Given the description of an element on the screen output the (x, y) to click on. 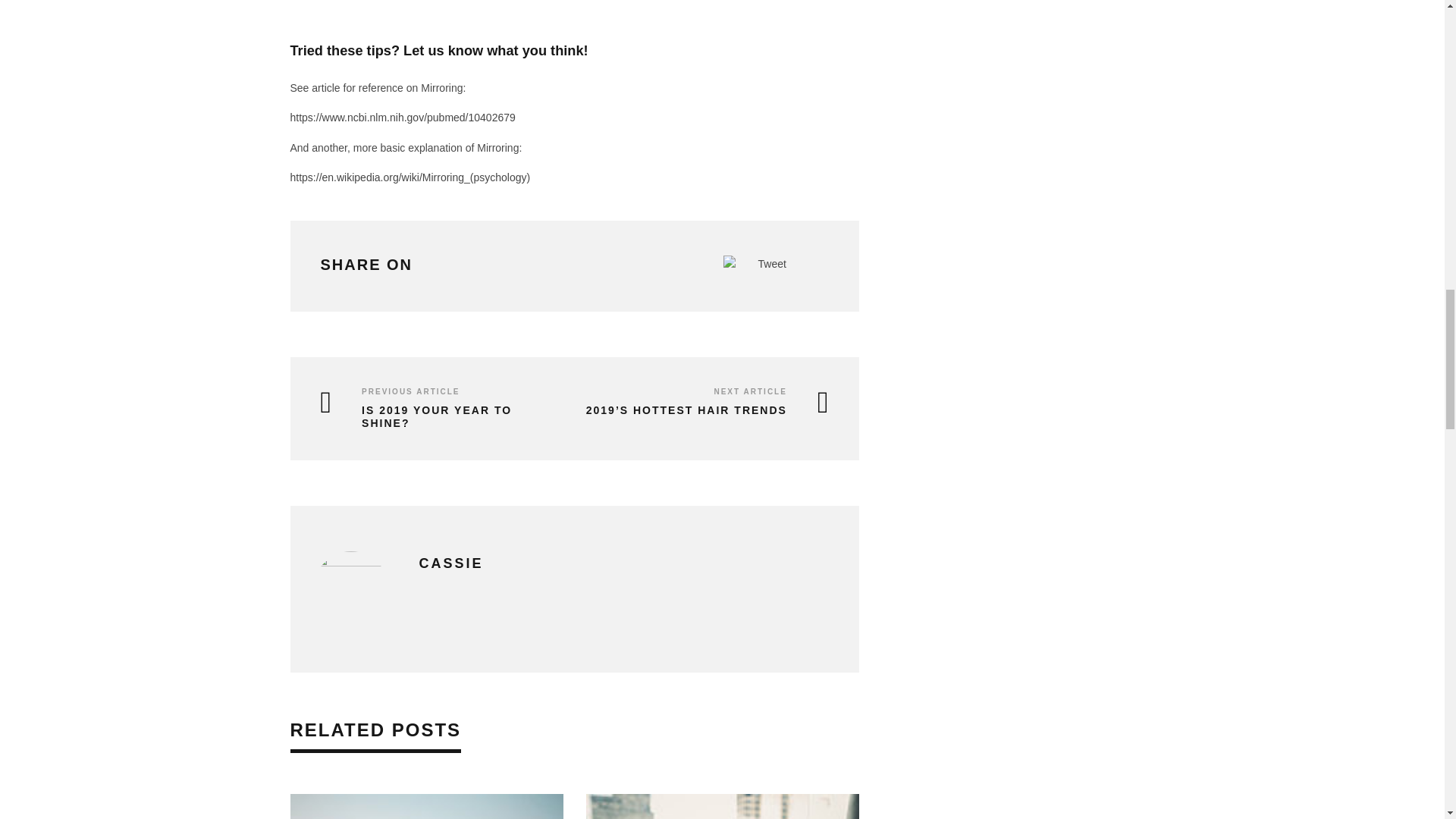
NEXT ARTICLE (749, 391)
CASSIE (451, 563)
IS 2019 YOUR YEAR TO SHINE? (435, 416)
Tweet (772, 263)
PREVIOUS ARTICLE (410, 391)
